Given the description of an element on the screen output the (x, y) to click on. 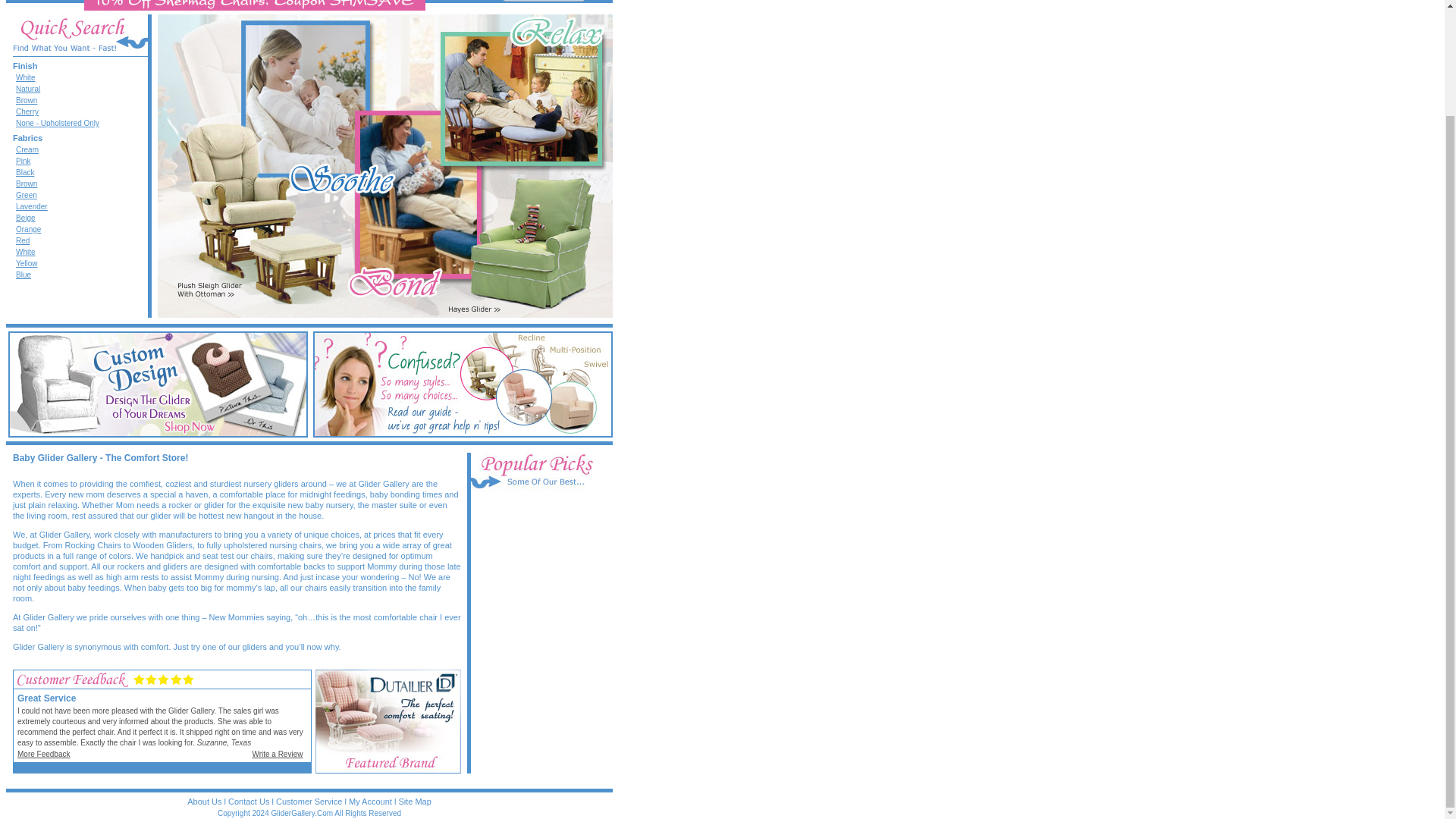
Orange (28, 229)
Brown (26, 183)
White (25, 252)
None - Upholstered Only (57, 122)
Black (24, 172)
About Us (204, 800)
Site Map (413, 800)
Green (26, 194)
Contact Us (248, 800)
Write a Review (276, 754)
My Account (370, 800)
More Feedback (43, 754)
Pink (23, 161)
Natural (28, 89)
White (25, 77)
